Given the description of an element on the screen output the (x, y) to click on. 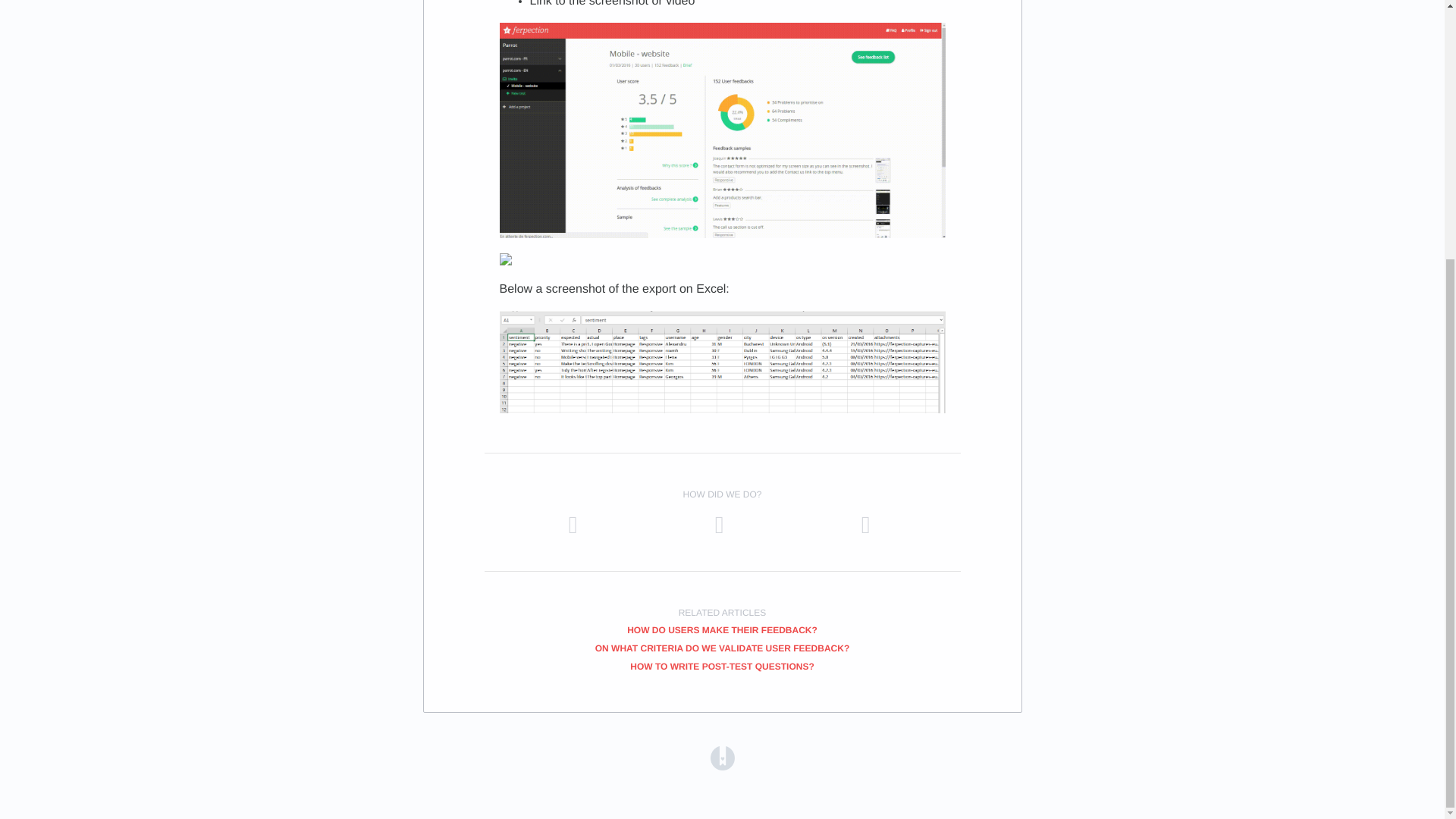
ON WHAT CRITERIA DO WE VALIDATE USER FEEDBACK? (722, 647)
Powered by HelpDocs (721, 757)
HOW DO USERS MAKE THEIR FEEDBACK? (721, 629)
HOW TO WRITE POST-TEST QUESTIONS? (721, 665)
